Given the description of an element on the screen output the (x, y) to click on. 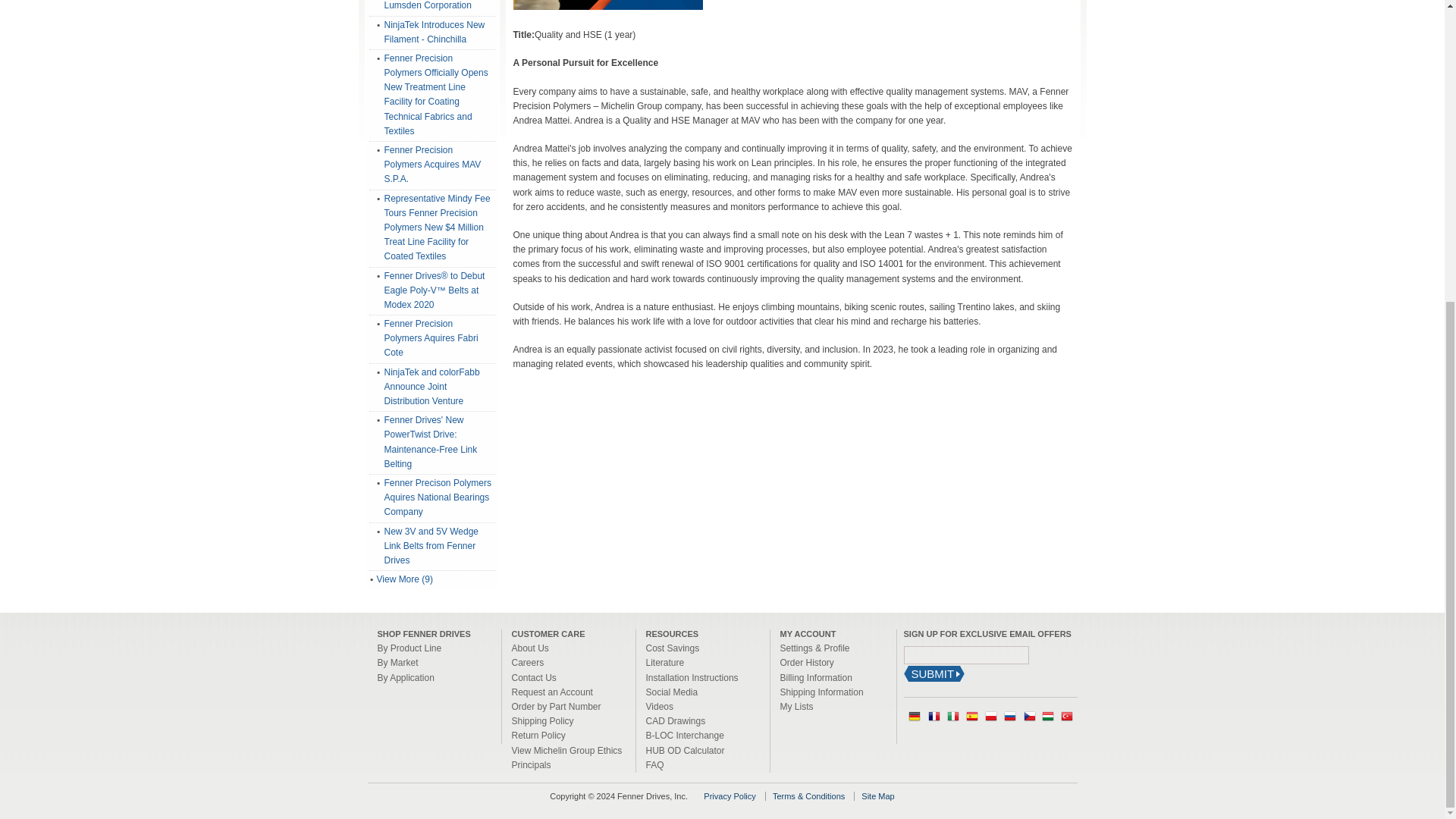
Frequently Asked Questions (654, 765)
Billing Information (814, 677)
CAD Drawings (676, 720)
Installation Instructions (692, 677)
HUB OD Calculator (685, 750)
Product Literature (665, 662)
Settings AND Profile (813, 647)
Fenner Drives Social Media (672, 692)
B-LOC Interchange (684, 735)
Enter your email address (966, 655)
